Given the description of an element on the screen output the (x, y) to click on. 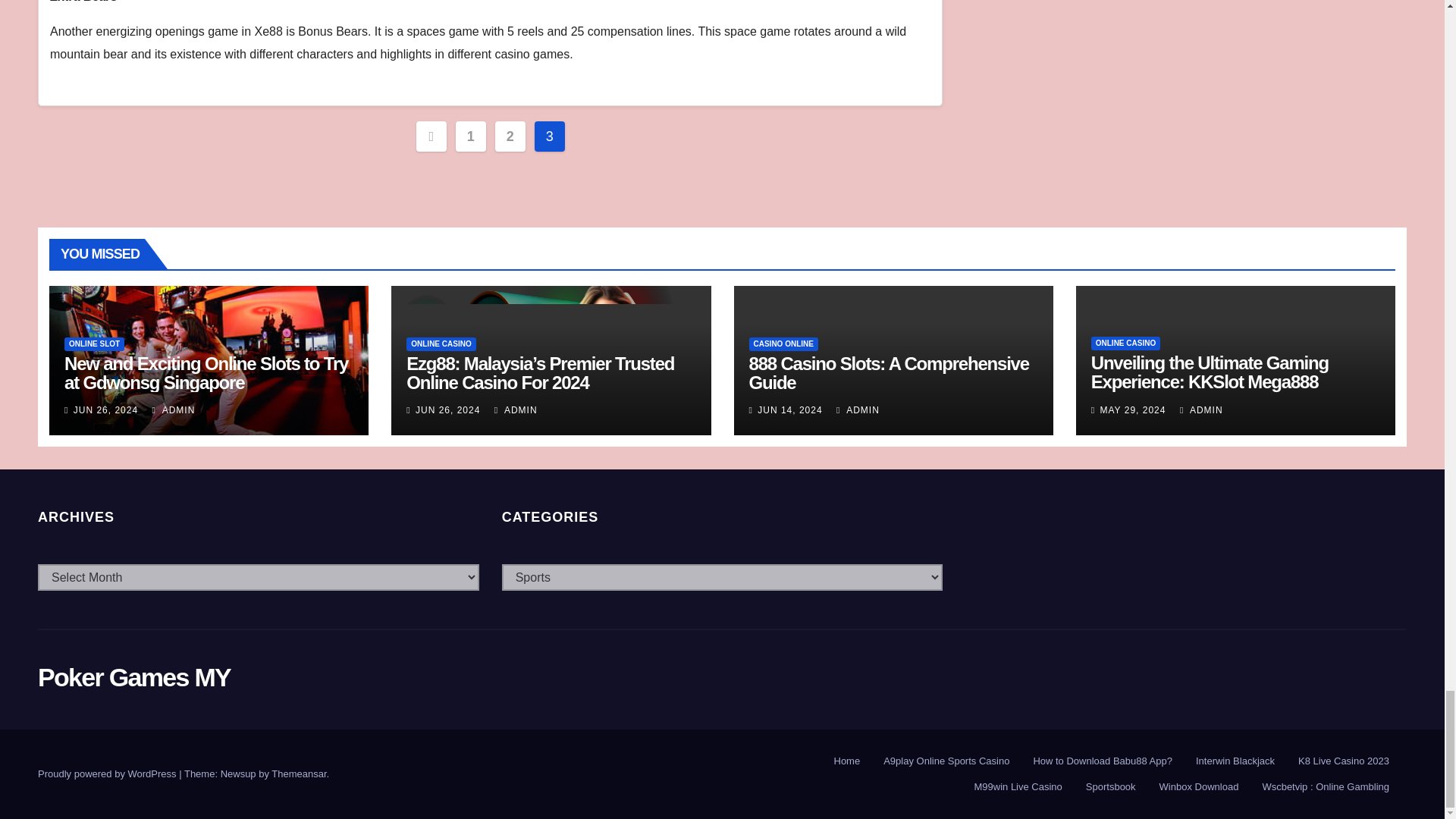
Home (847, 760)
Permalink to: 888 Casino Slots: A Comprehensive Guide (889, 372)
